Given the description of an element on the screen output the (x, y) to click on. 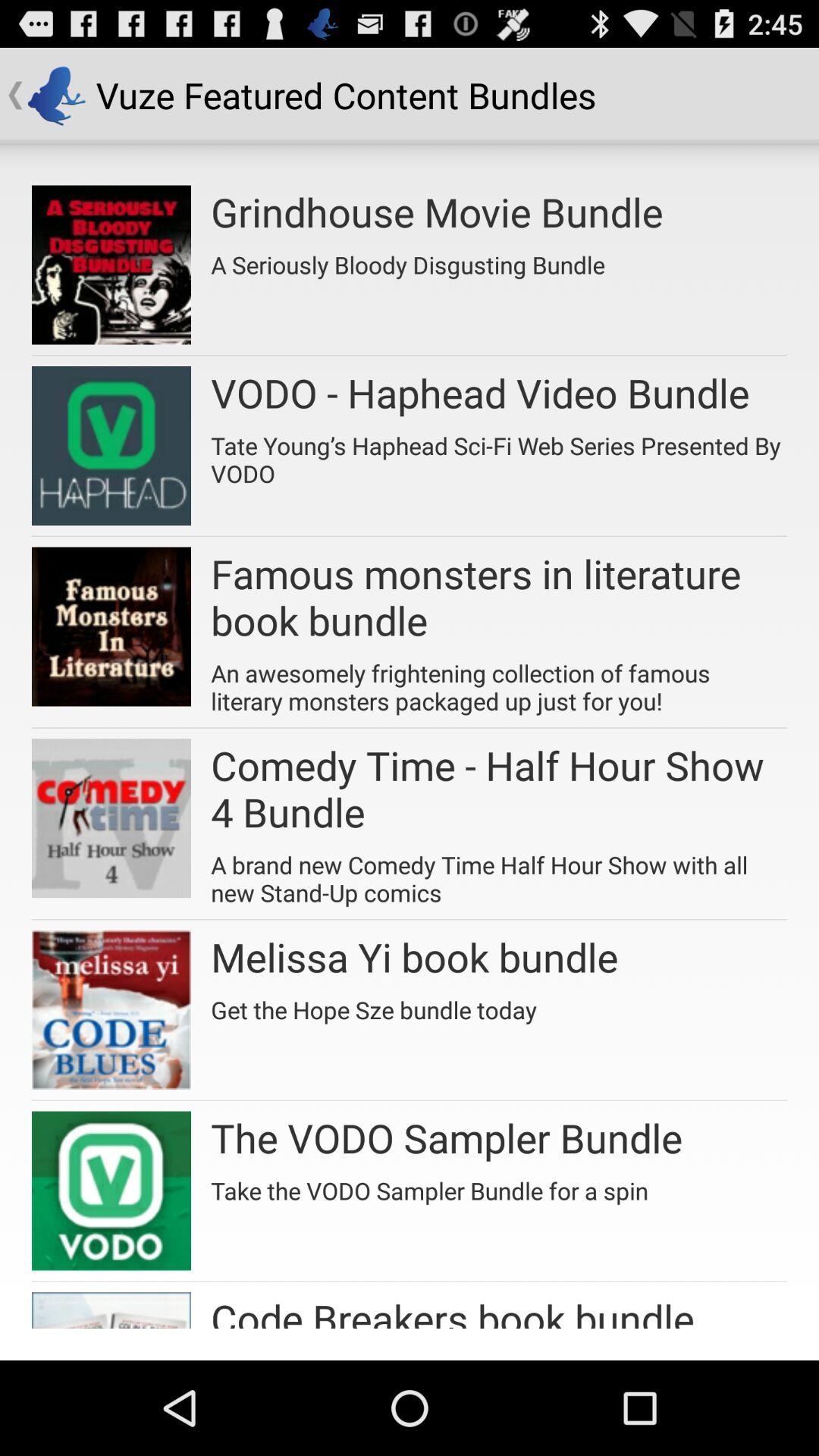
turn on a seriously bloody item (408, 259)
